Given the description of an element on the screen output the (x, y) to click on. 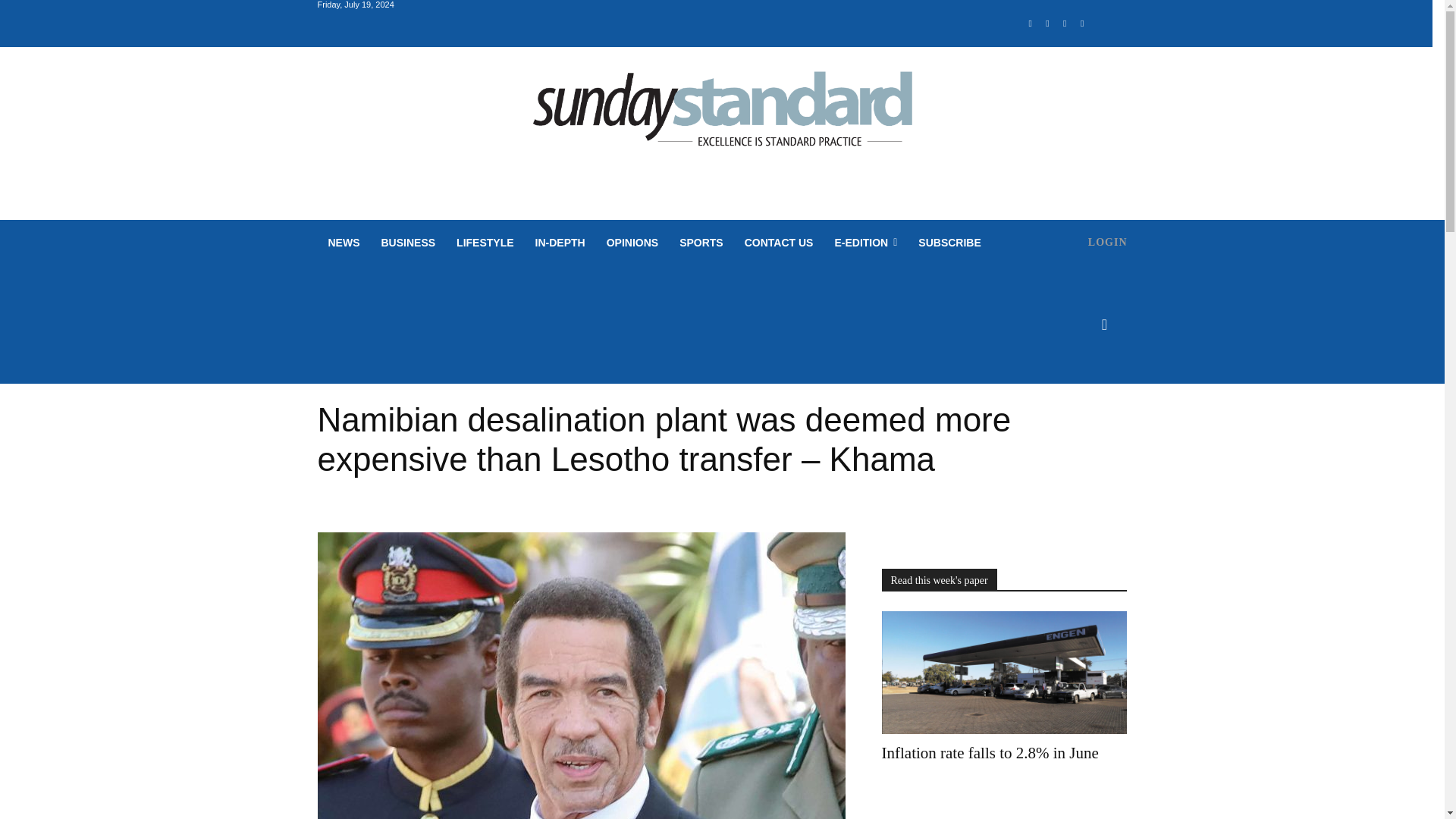
Facebook (1030, 23)
SPORTS (700, 242)
Sunday Standard (721, 114)
OPINIONS (631, 242)
LIFESTYLE (484, 242)
E-EDITION (865, 242)
IN-DEPTH (559, 242)
Instagram (1048, 23)
BUSINESS (407, 242)
CONTACT US (778, 242)
Twitter (1065, 23)
NEWS (343, 242)
Sunday Standard (721, 114)
Youtube (1082, 23)
